Given the description of an element on the screen output the (x, y) to click on. 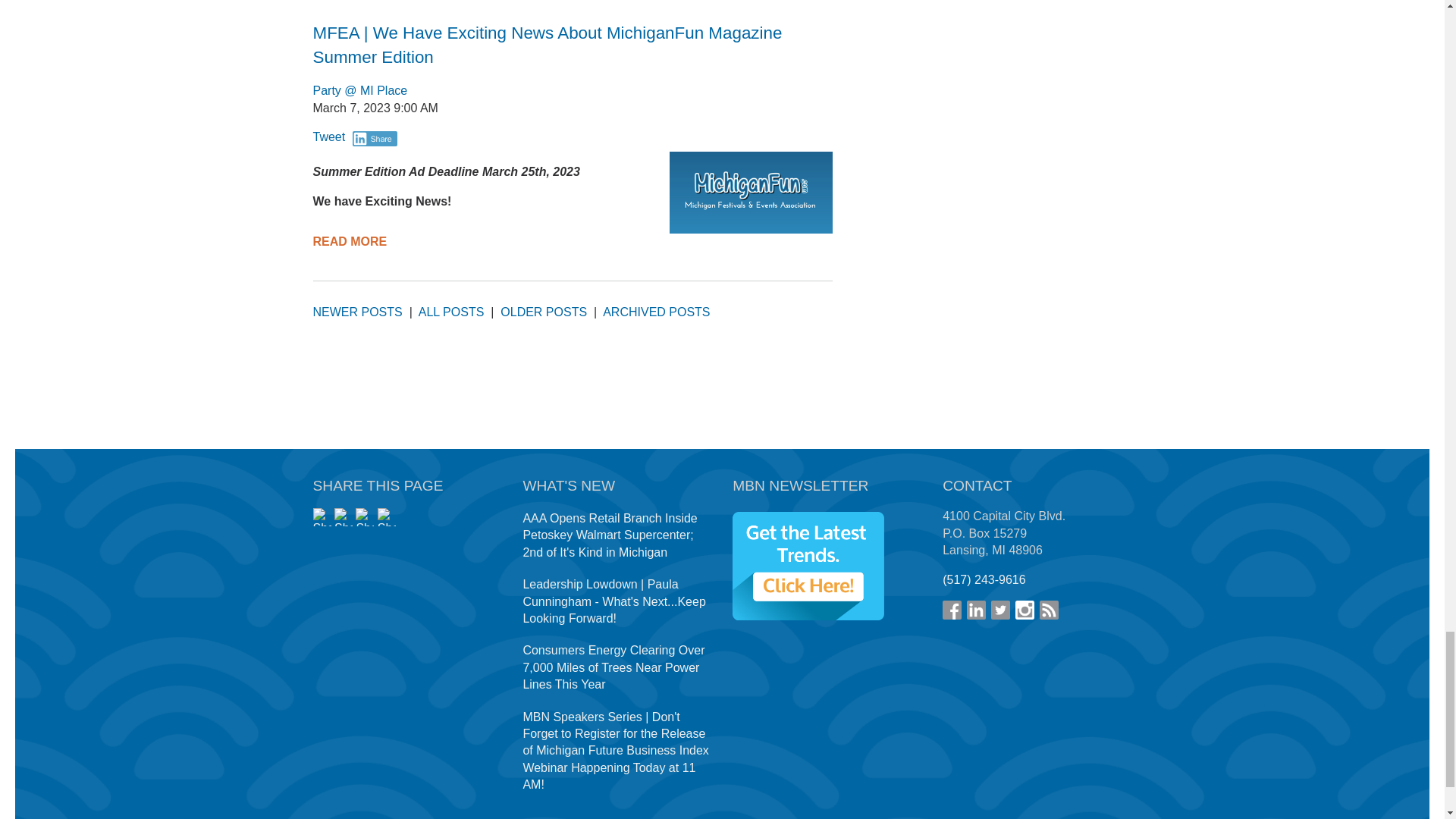
Connect on Linkedin (975, 609)
Connect with Instagram (1023, 609)
Follow on Facebook (951, 609)
Follow on Twitter (1000, 609)
